Given the description of an element on the screen output the (x, y) to click on. 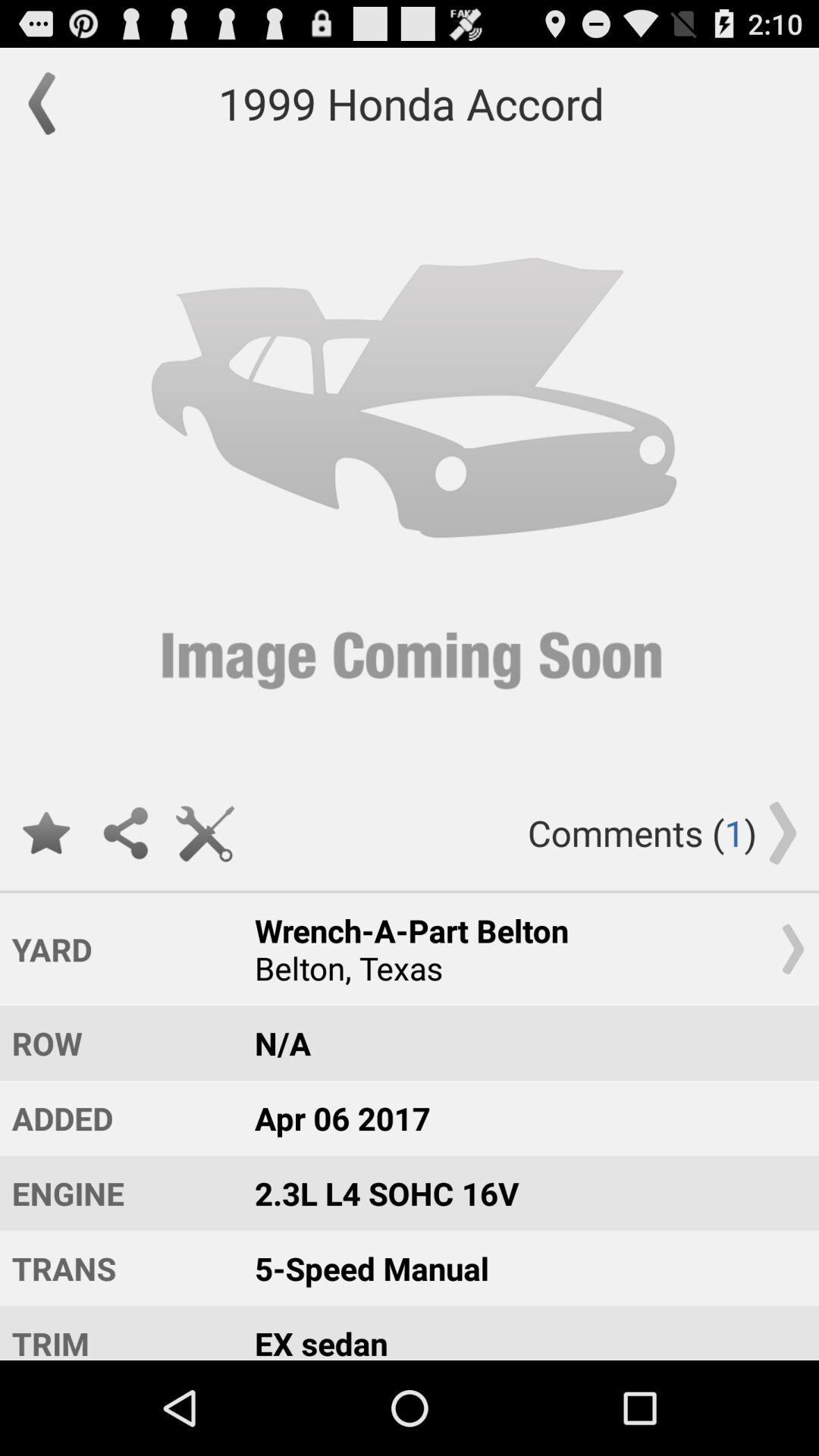
go back (49, 103)
